Given the description of an element on the screen output the (x, y) to click on. 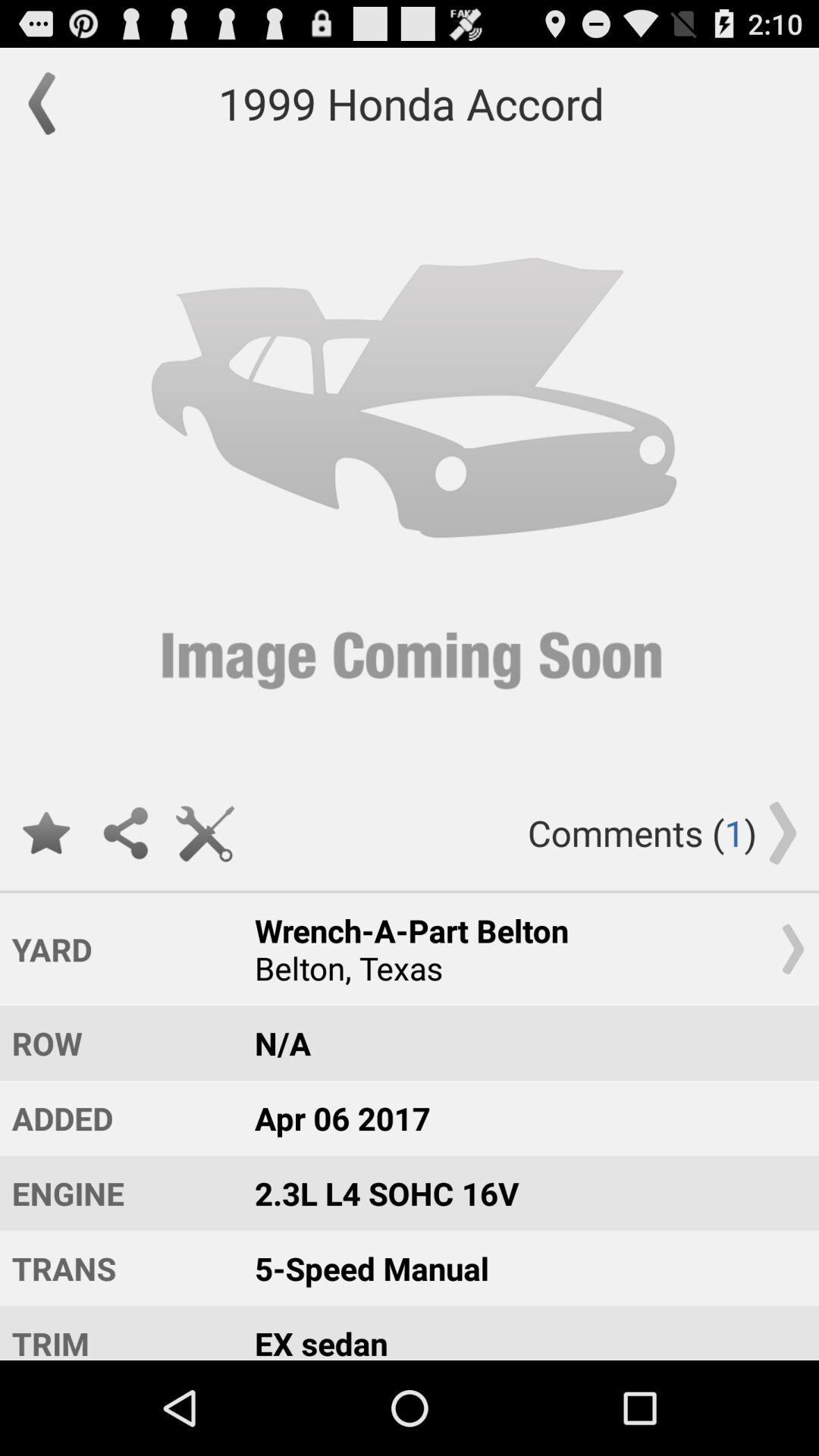
go back (49, 103)
